Given the description of an element on the screen output the (x, y) to click on. 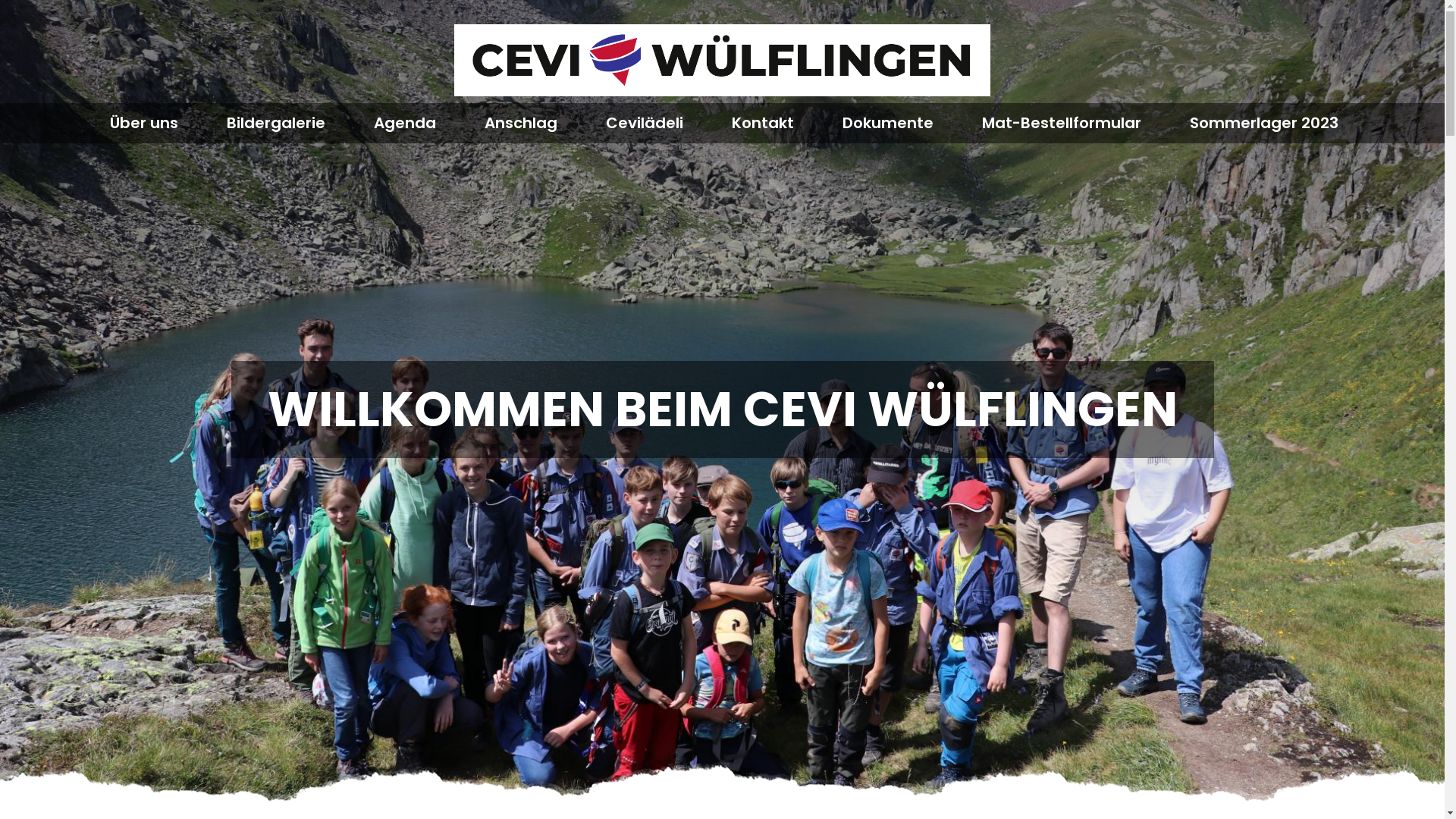
Startseite Element type: hover (722, 60)
Bildergalerie Element type: text (274, 122)
Sommerlager 2023 Element type: text (1263, 122)
Dokumente Element type: text (886, 122)
Anschlag Element type: text (519, 122)
Mat-Bestellformular Element type: text (1060, 122)
Direkt zum Inhalt Element type: text (0, 0)
Agenda Element type: text (404, 122)
Kontakt Element type: text (762, 122)
